Given the description of an element on the screen output the (x, y) to click on. 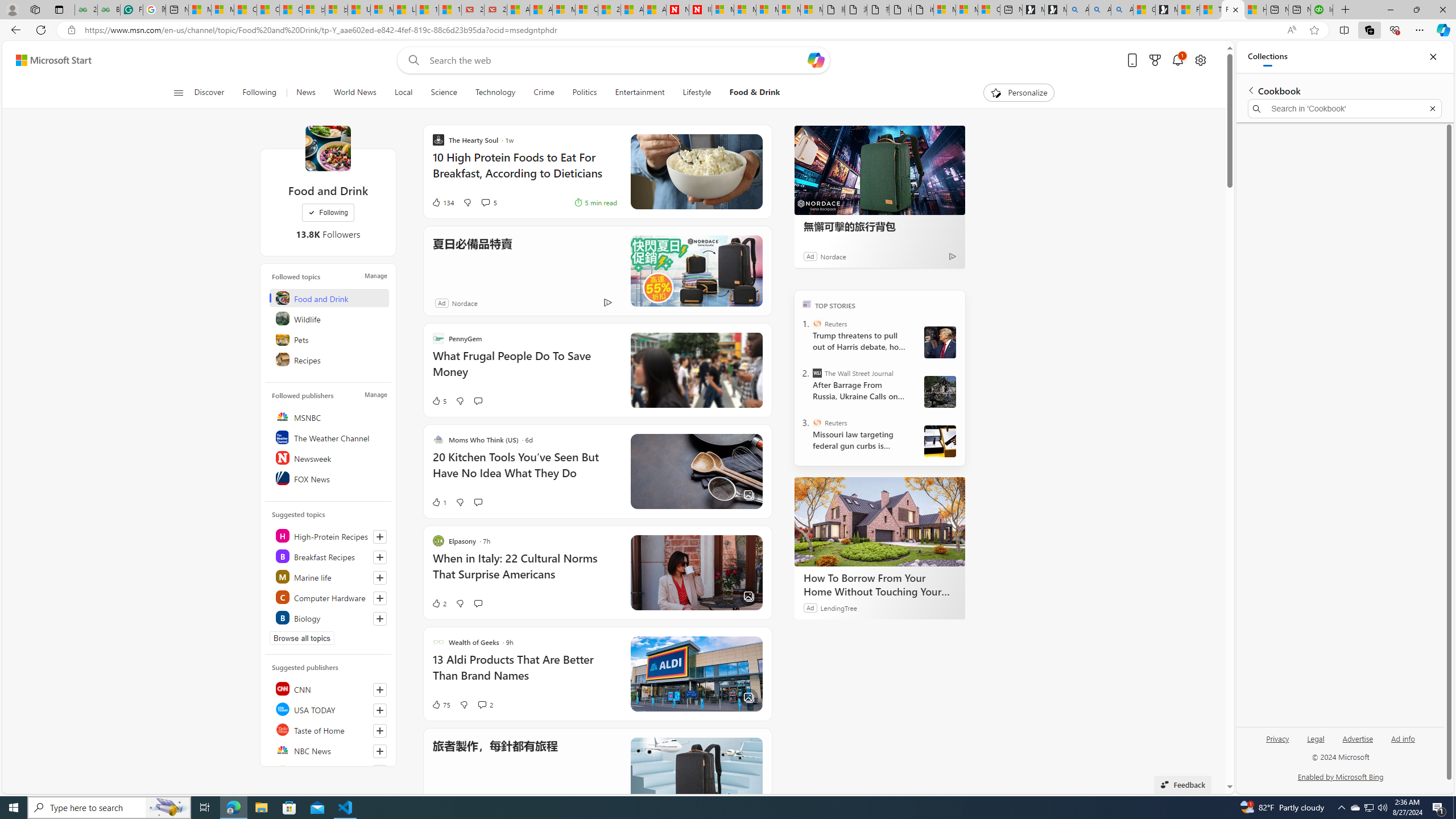
Technology (494, 92)
Free AI Writing Assistance for Students | Grammarly (131, 9)
Lifestyle (696, 92)
How To Borrow From Your Home Without Touching Your Mortgage (879, 521)
Skip to content (49, 59)
New Tab (1346, 9)
Following (327, 212)
Personalize (1019, 92)
Discover (213, 92)
The Weather Channel (328, 437)
Crime (543, 92)
Browser essentials (1394, 29)
NBC News (328, 750)
Pets (328, 339)
